Given the description of an element on the screen output the (x, y) to click on. 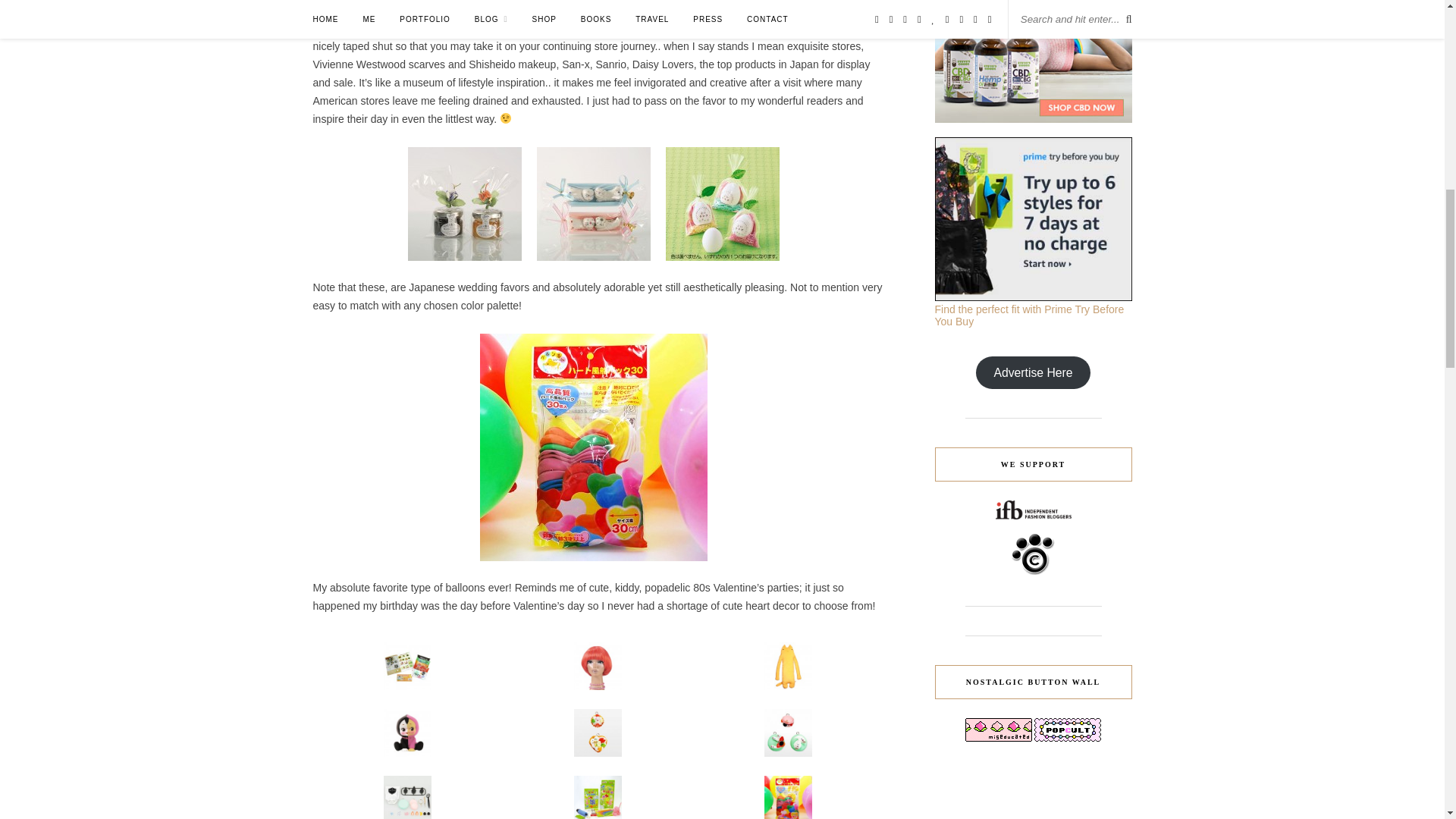
96089997366 (592, 447)
96099998140 (721, 204)
